Given the description of an element on the screen output the (x, y) to click on. 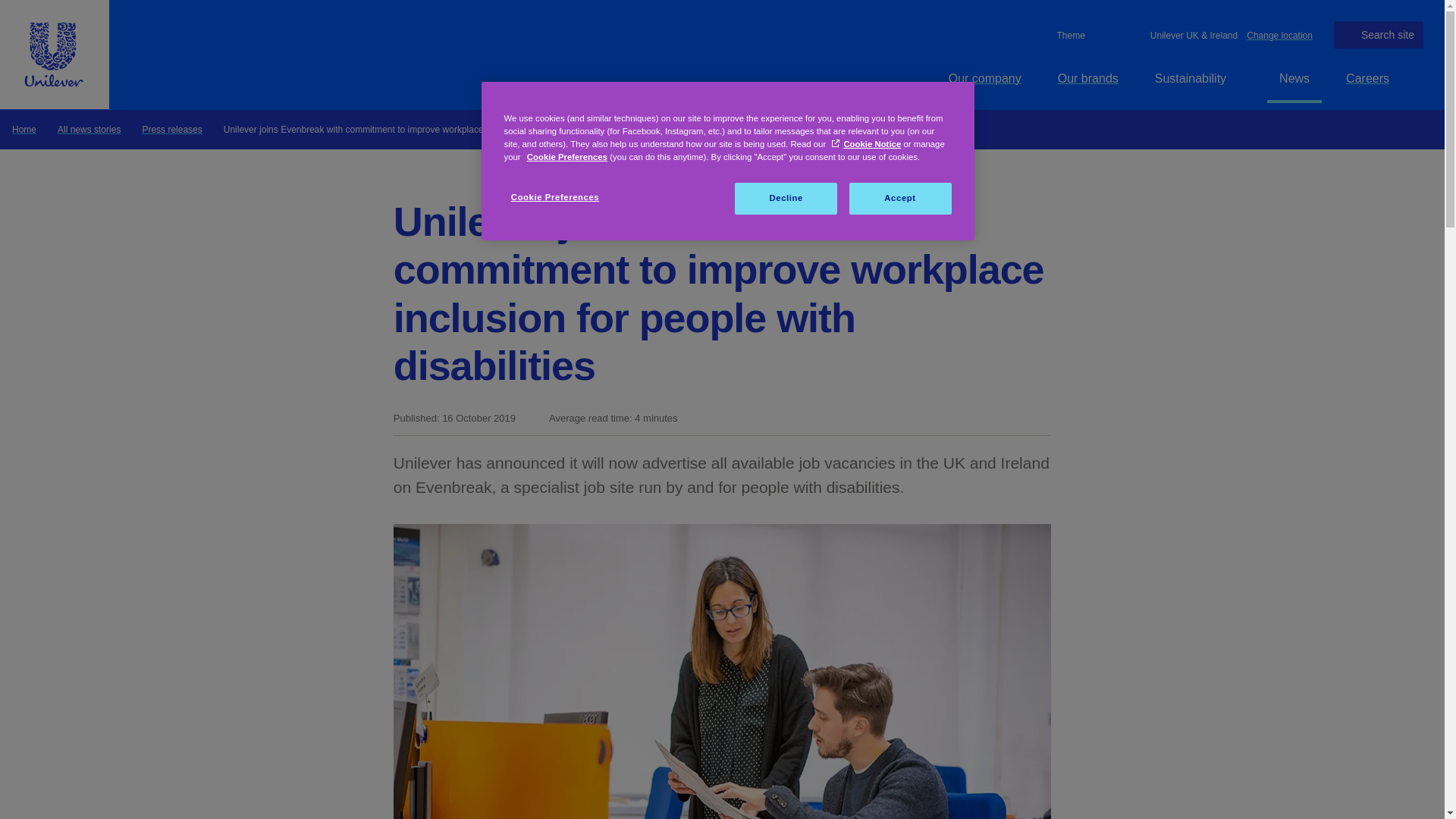
All news stories (89, 129)
Change location (1279, 34)
Our company (984, 78)
Cookie Notice. Link opens in a new window (866, 143)
Home (23, 129)
Our brands (1088, 78)
News (1294, 78)
Theme (1067, 35)
Press releases (171, 129)
